Given the description of an element on the screen output the (x, y) to click on. 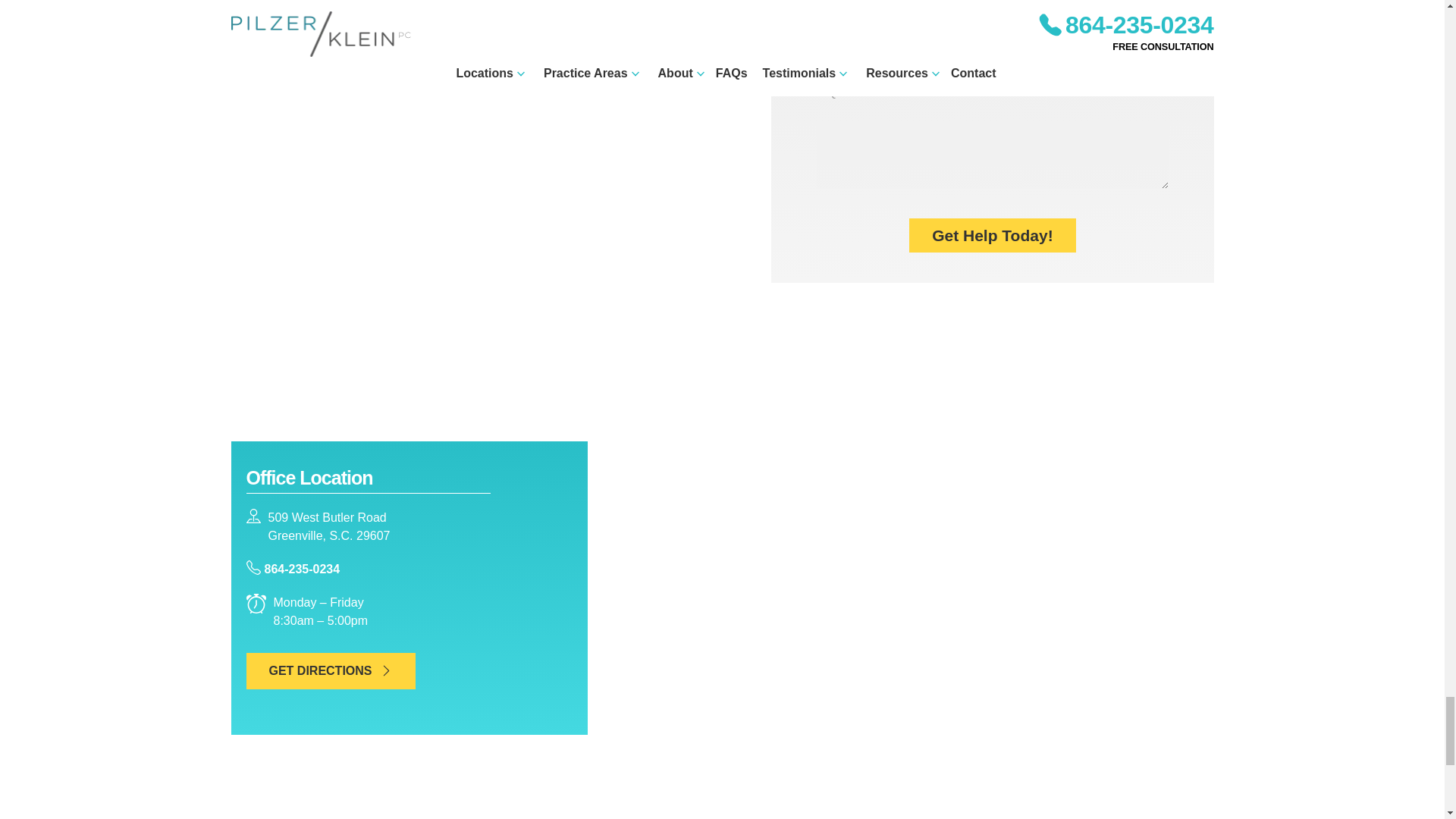
Get Help Today! (991, 235)
